Given the description of an element on the screen output the (x, y) to click on. 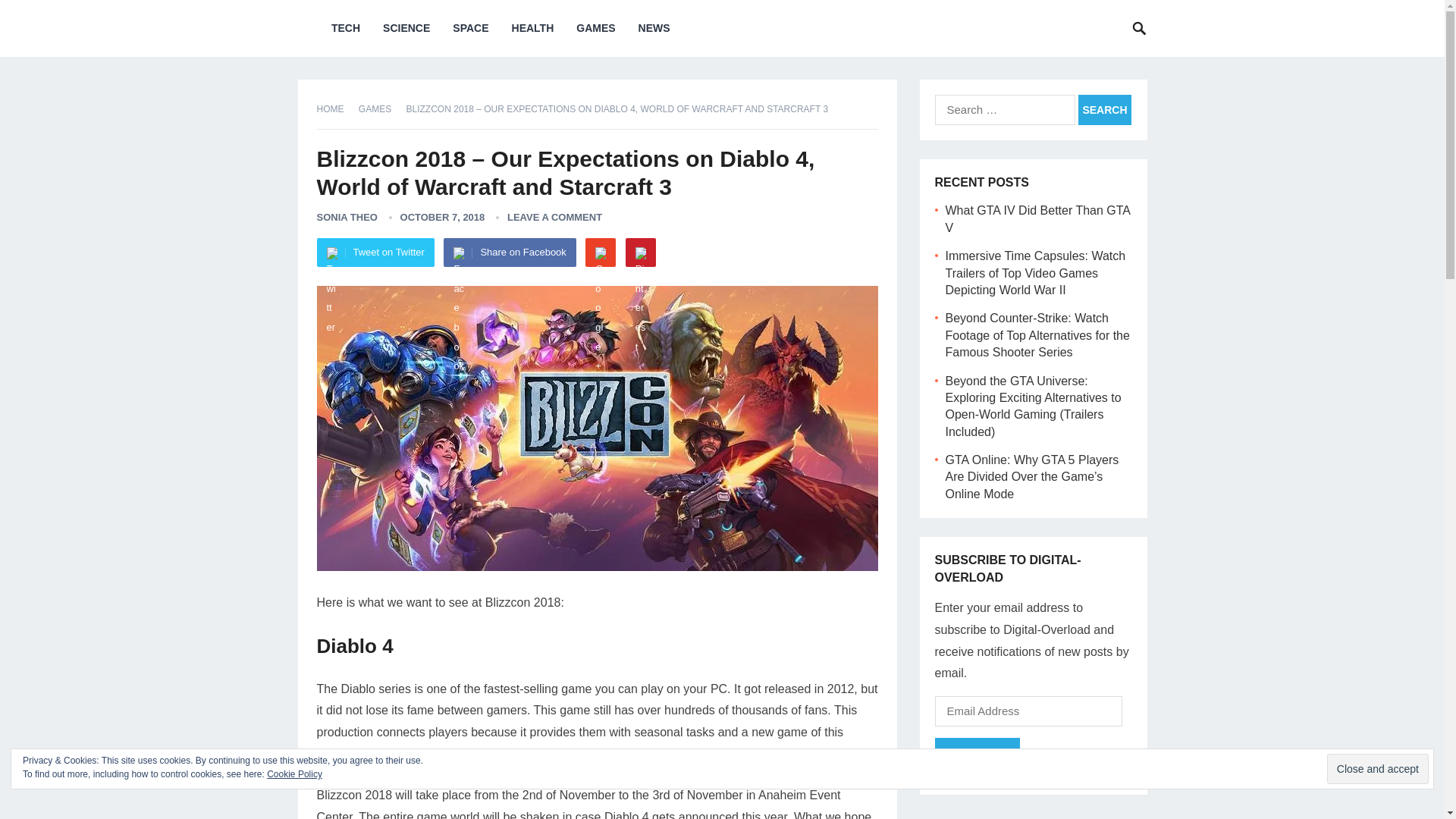
Close and accept (1377, 768)
Tweet on Twitter (375, 252)
Search (1104, 110)
NEWS (654, 28)
SONIA THEO (347, 216)
HOME (336, 109)
Pinterest (641, 252)
View all posts in Games (379, 109)
Posts by Sonia Theo (347, 216)
Share on Facebook (509, 252)
